Given the description of an element on the screen output the (x, y) to click on. 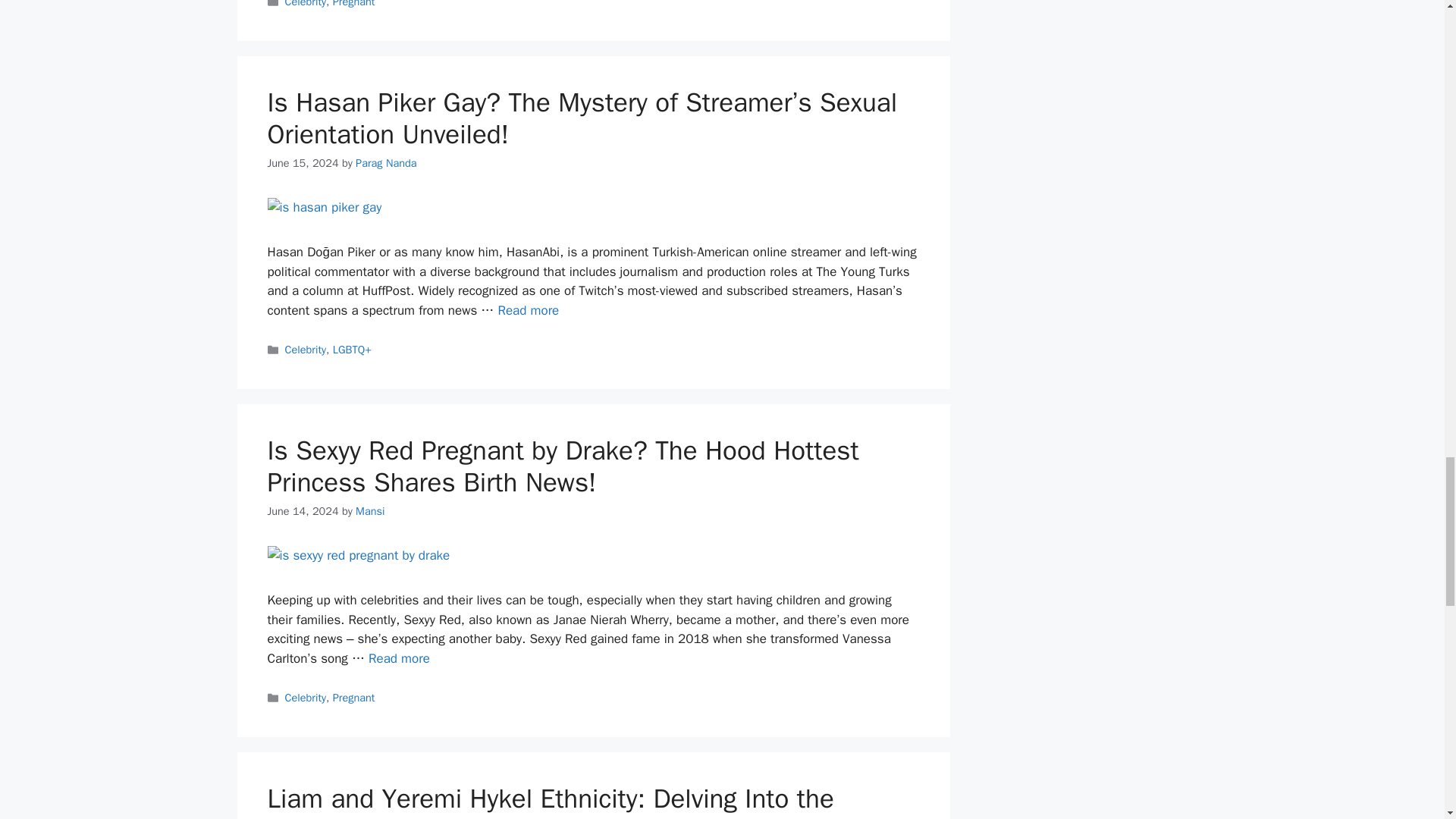
View all posts by Parag Nanda (385, 162)
View all posts by Mansi (369, 510)
